Given the description of an element on the screen output the (x, y) to click on. 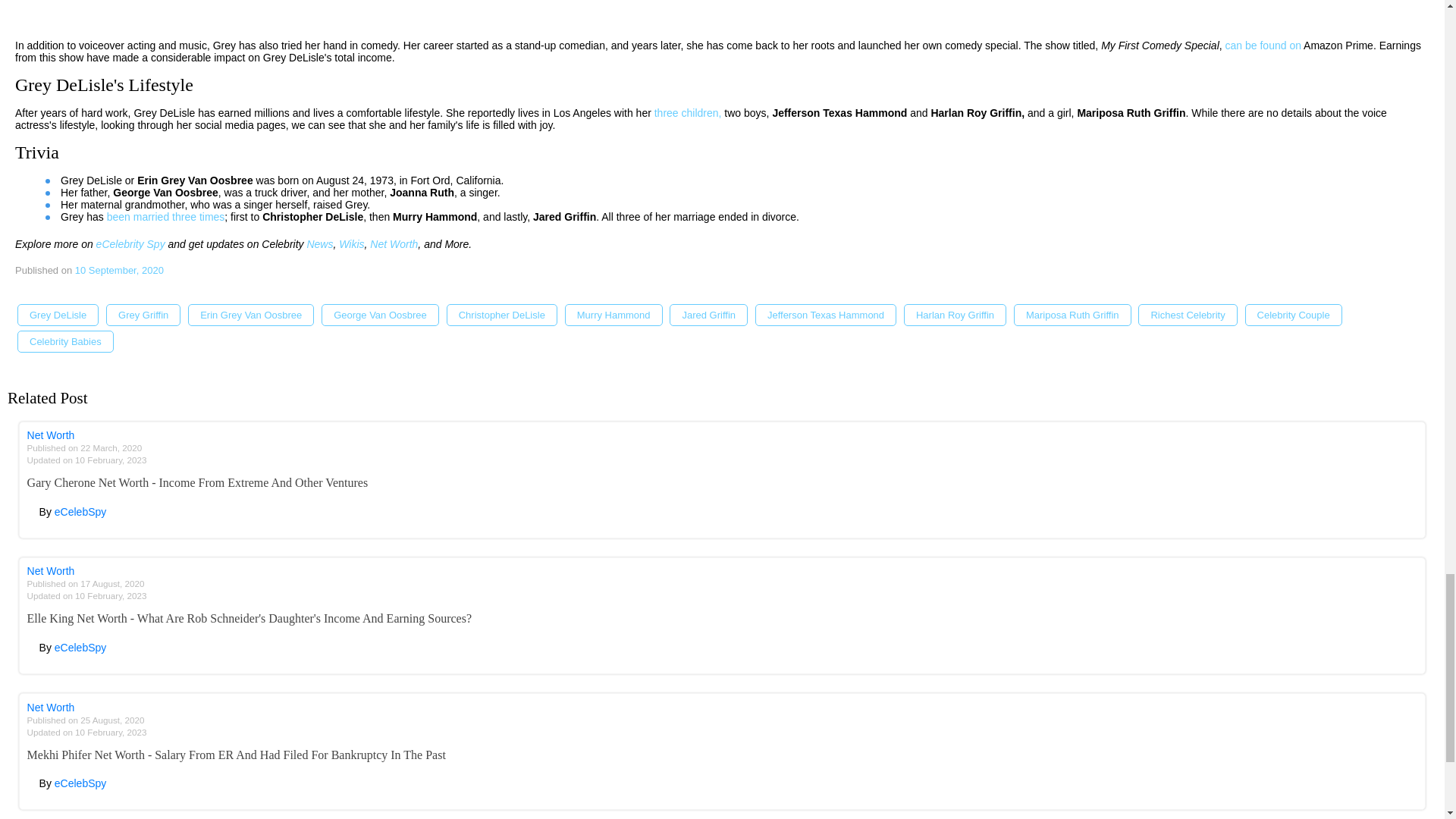
Richest Celebrity (1187, 314)
Harlan Roy Griffin (955, 314)
been married three times (165, 216)
Christopher DeLisle (501, 314)
three children, (687, 112)
Grey Griffin (143, 314)
Grey DeLisle (58, 314)
can be found on (1263, 45)
George Van Oosbree (380, 314)
Wikis (351, 244)
eCelebrity Spy (130, 244)
News (319, 244)
Erin Grey Van Oosbree (250, 314)
Jared Griffin (708, 314)
Mariposa Ruth Griffin (1072, 314)
